Given the description of an element on the screen output the (x, y) to click on. 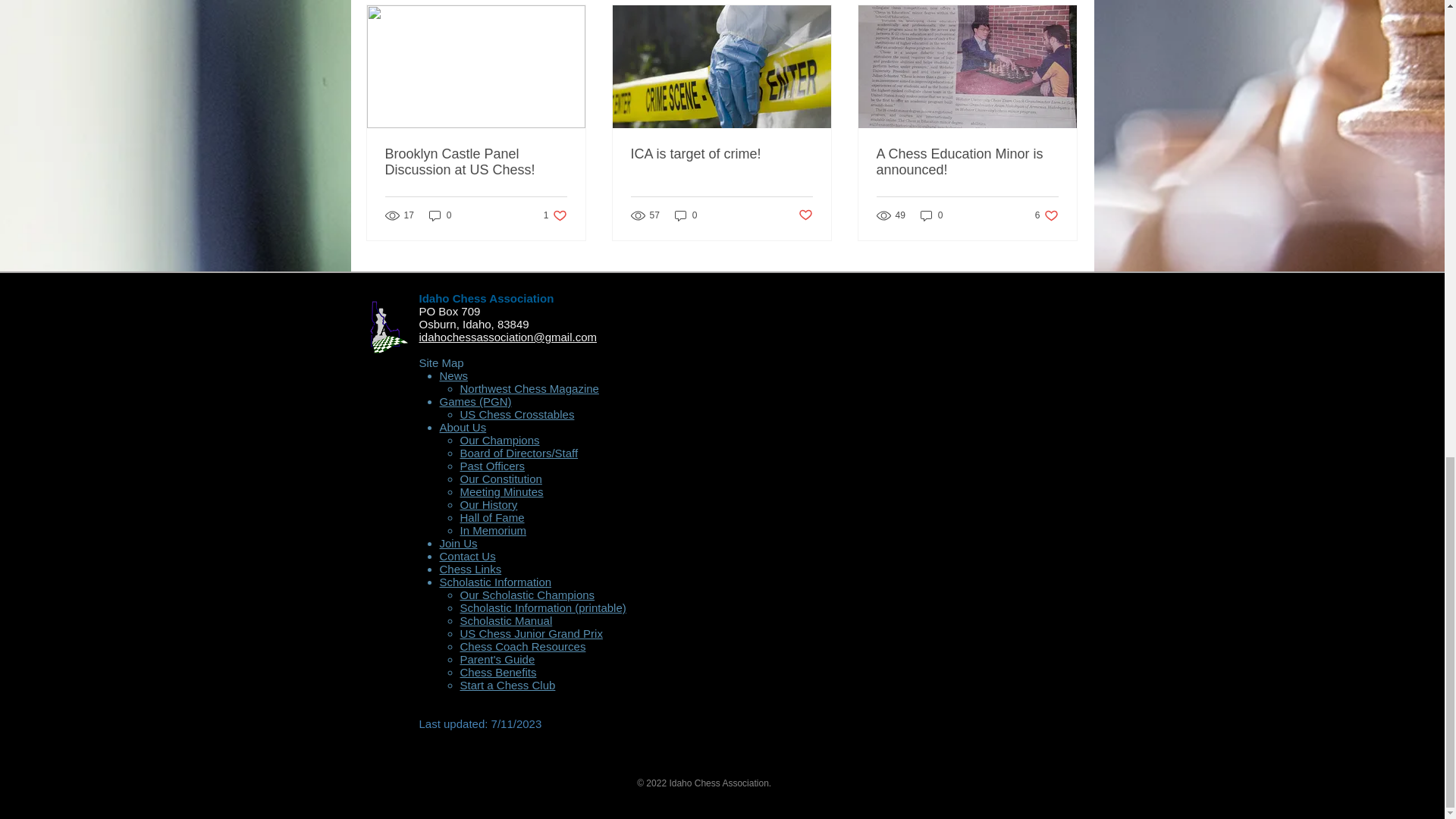
ICA is target of crime! (721, 154)
0 (931, 215)
Northwest Chess Magazine (529, 388)
Post not marked as liked (804, 215)
A Chess Education Minor is announced! (967, 162)
0 (440, 215)
Brooklyn Castle Panel Discussion at US Chess! (476, 162)
0 (555, 215)
Site Map (685, 215)
